Given the description of an element on the screen output the (x, y) to click on. 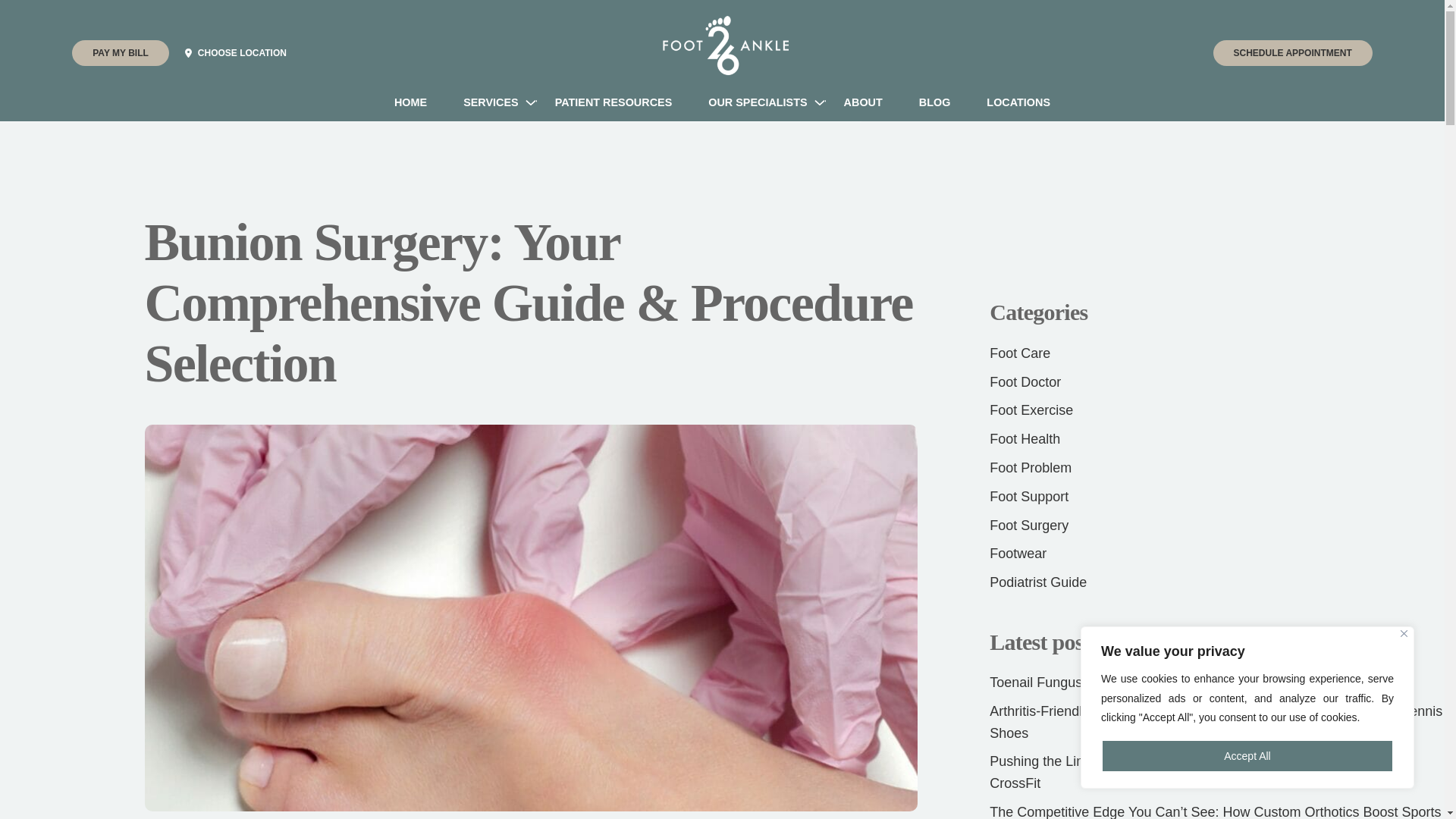
HOME (410, 102)
CHOOSE LOCATION (245, 53)
PAY MY BILL (119, 53)
SCHEDULE APPOINTMENT (1292, 53)
SERVICES (491, 102)
Accept All (1246, 756)
